Given the description of an element on the screen output the (x, y) to click on. 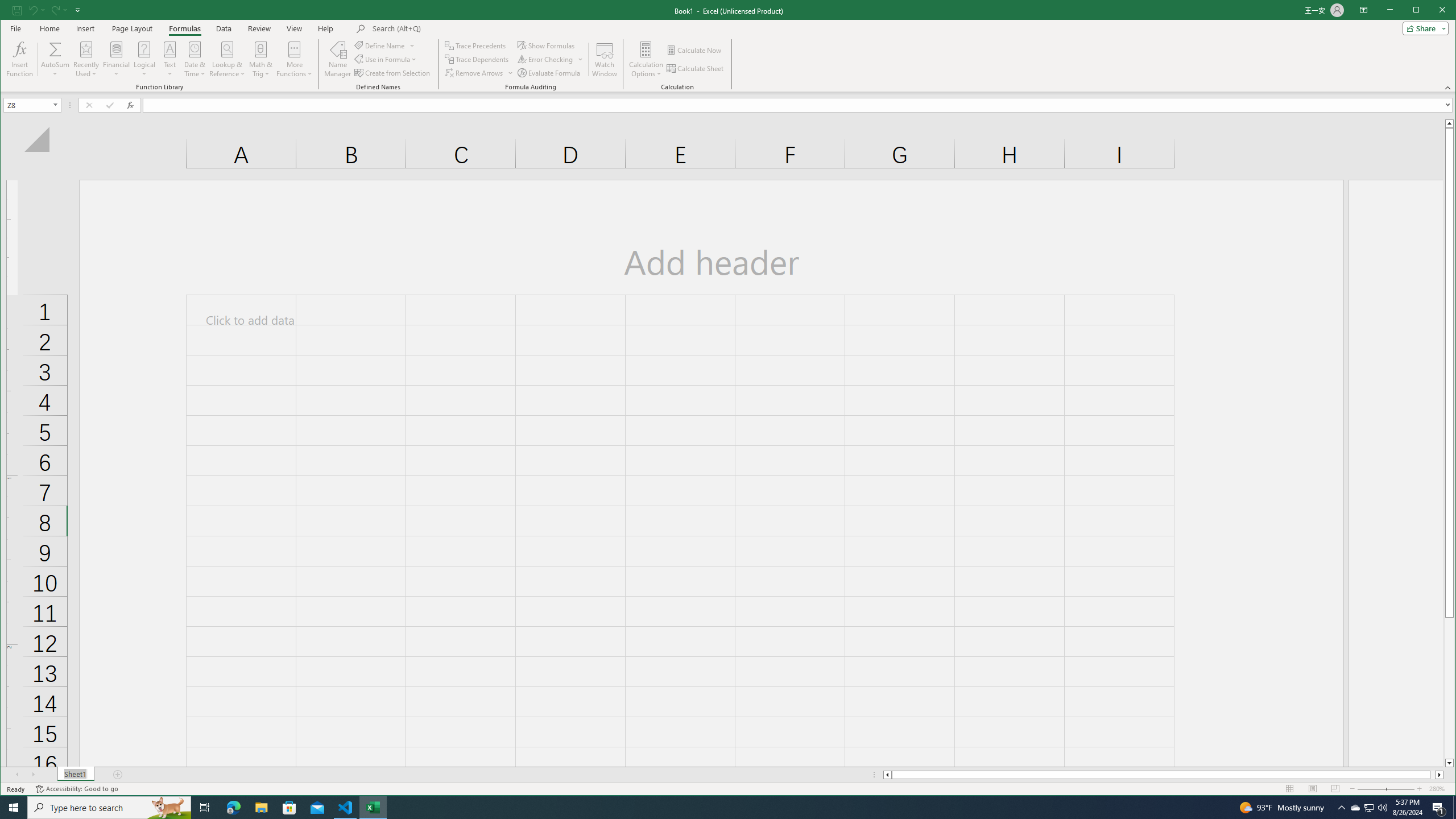
More Functions (294, 59)
AutoSum (55, 59)
Date & Time (194, 59)
Start (13, 807)
